Given the description of an element on the screen output the (x, y) to click on. 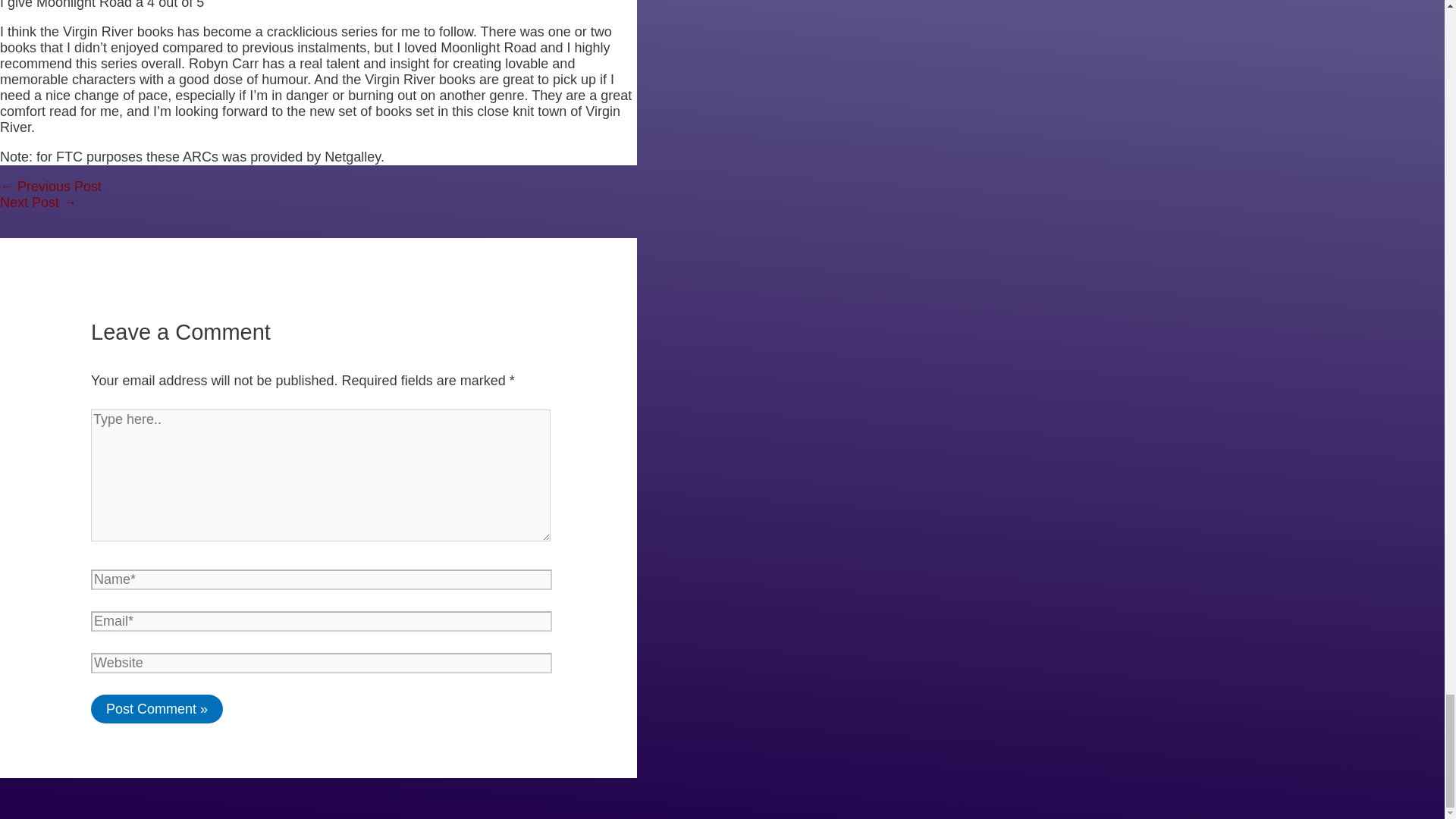
GIVEAWAY: Dark Life by Kat Falls (38, 201)
Books and Moods... (50, 186)
